Given the description of an element on the screen output the (x, y) to click on. 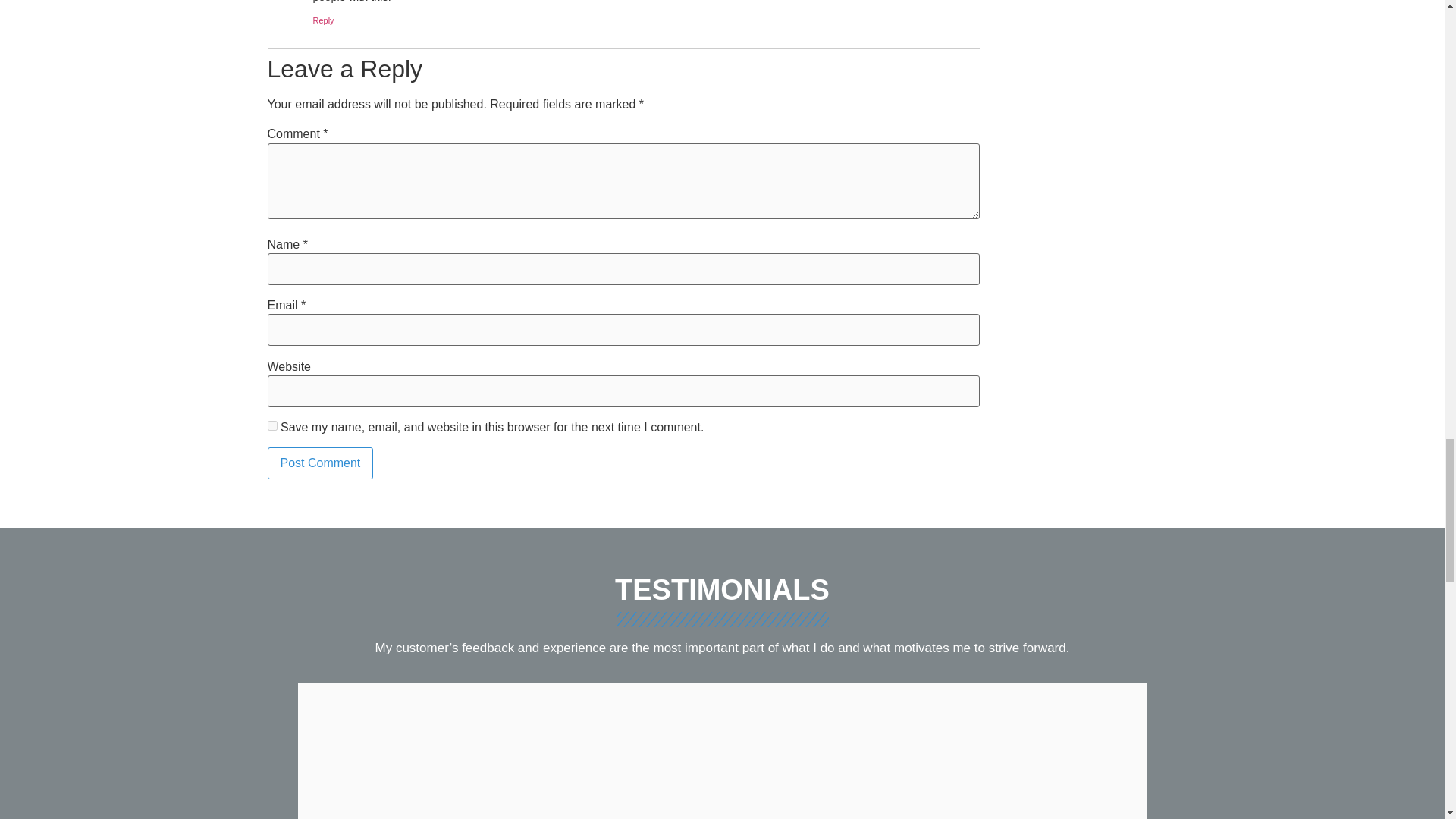
yes (271, 425)
Reply (323, 20)
Post Comment (319, 463)
Post Comment (319, 463)
